Given the description of an element on the screen output the (x, y) to click on. 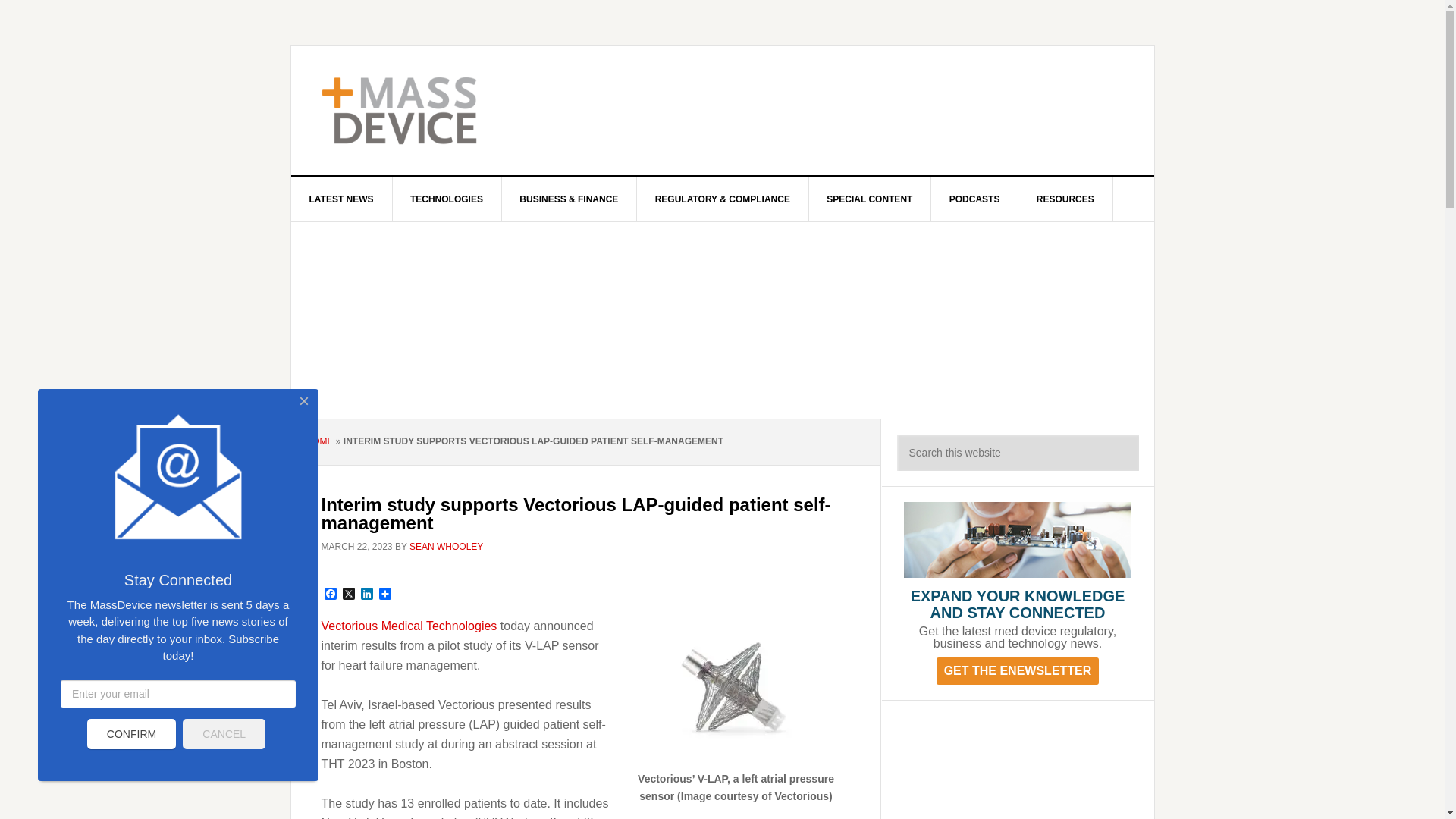
Facebook (330, 594)
3rd party ad content (848, 110)
MASSDEVICE (419, 110)
LinkedIn (366, 594)
SPECIAL CONTENT (869, 199)
3rd party ad content (1017, 767)
LATEST NEWS (342, 199)
PODCASTS (975, 199)
X (348, 594)
TECHNOLOGIES (446, 199)
